Given the description of an element on the screen output the (x, y) to click on. 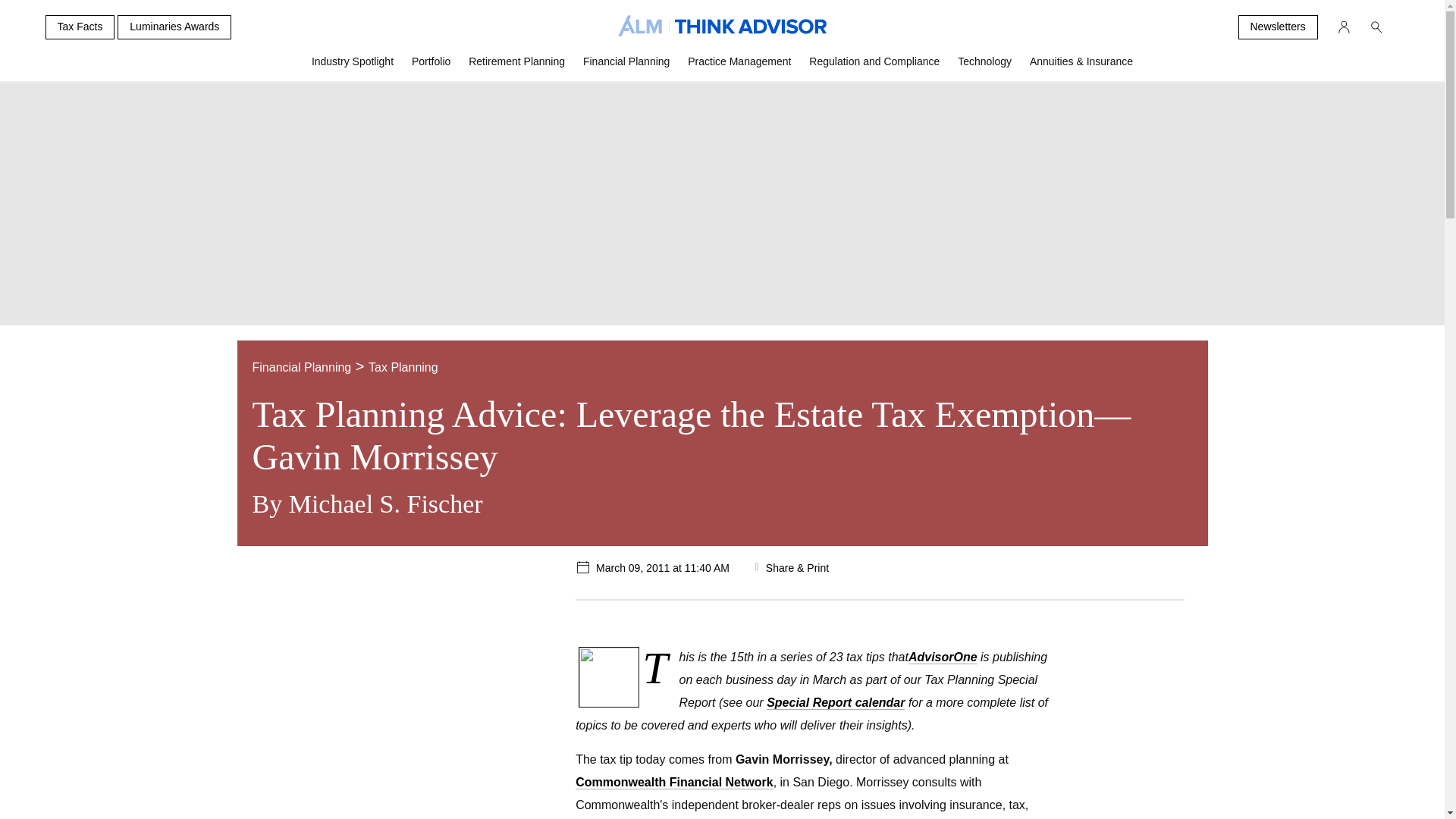
Industry Spotlight (352, 67)
Tax Facts (80, 27)
Newsletters (1277, 27)
Luminaries Awards (174, 27)
